Given the description of an element on the screen output the (x, y) to click on. 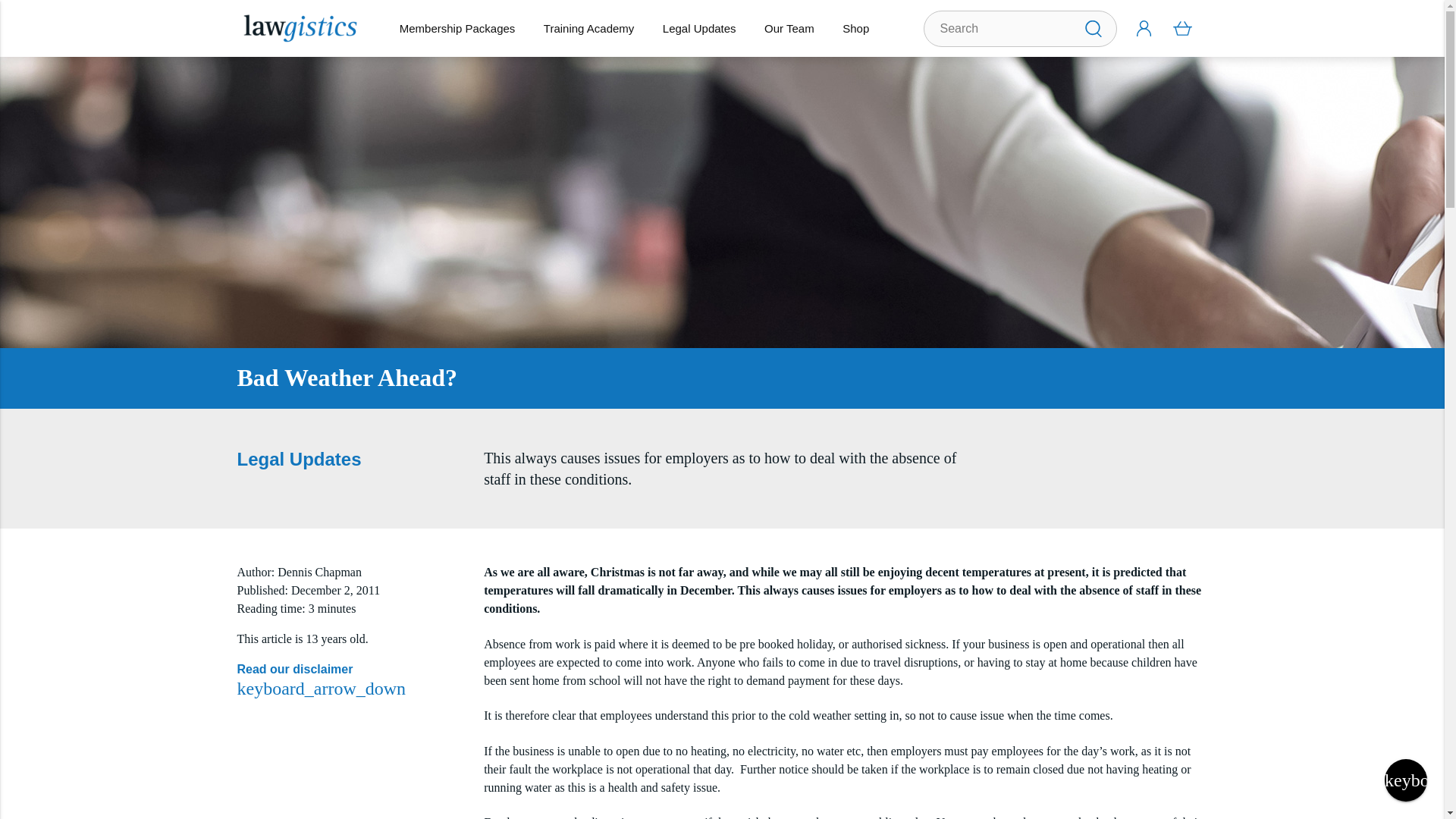
Training Academy (588, 28)
Legal Updates (698, 28)
Membership Packages (457, 28)
Shop (855, 28)
Our Team (788, 28)
